Given the description of an element on the screen output the (x, y) to click on. 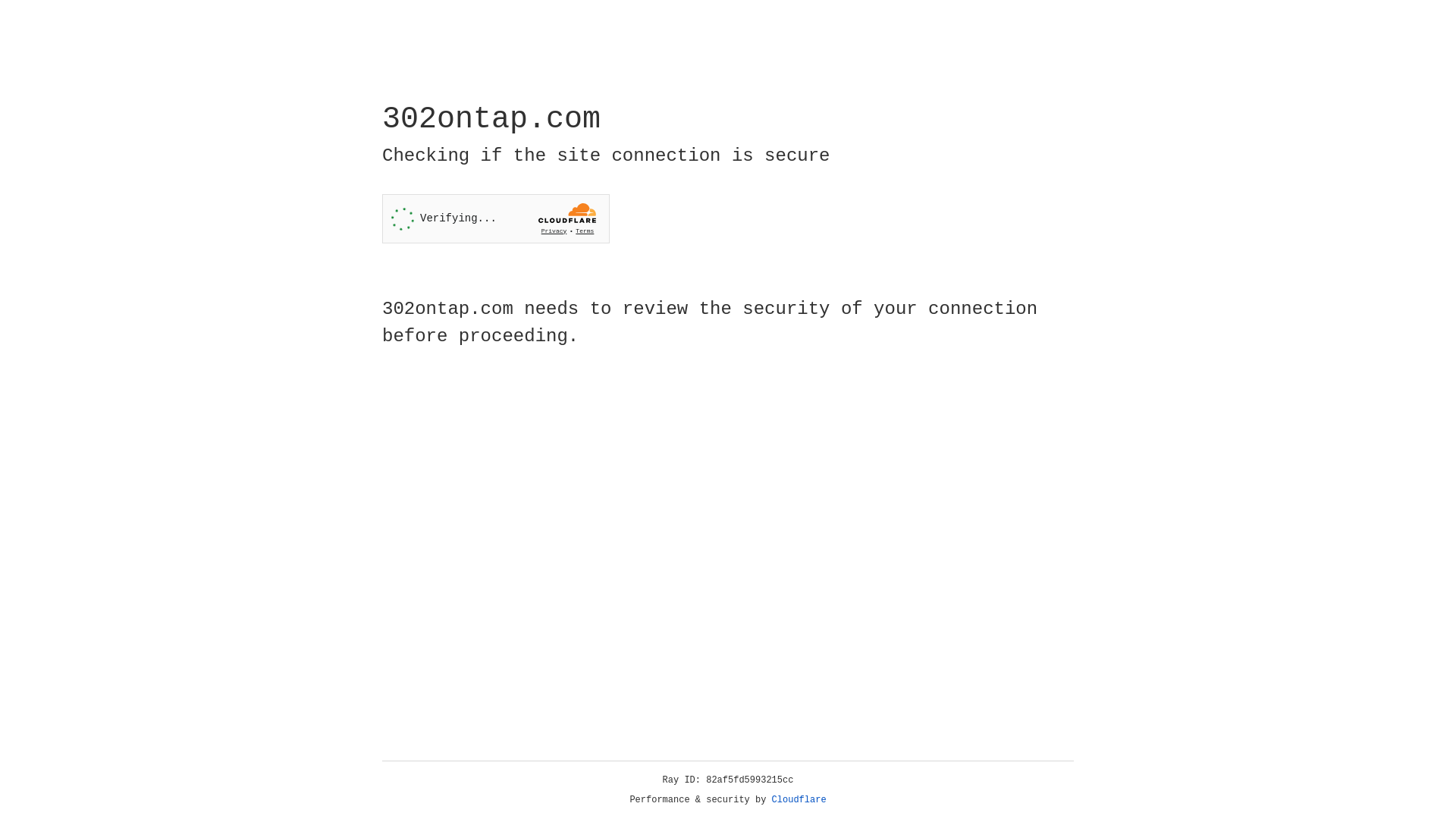
Cloudflare Element type: text (798, 799)
Widget containing a Cloudflare security challenge Element type: hover (495, 218)
